Given the description of an element on the screen output the (x, y) to click on. 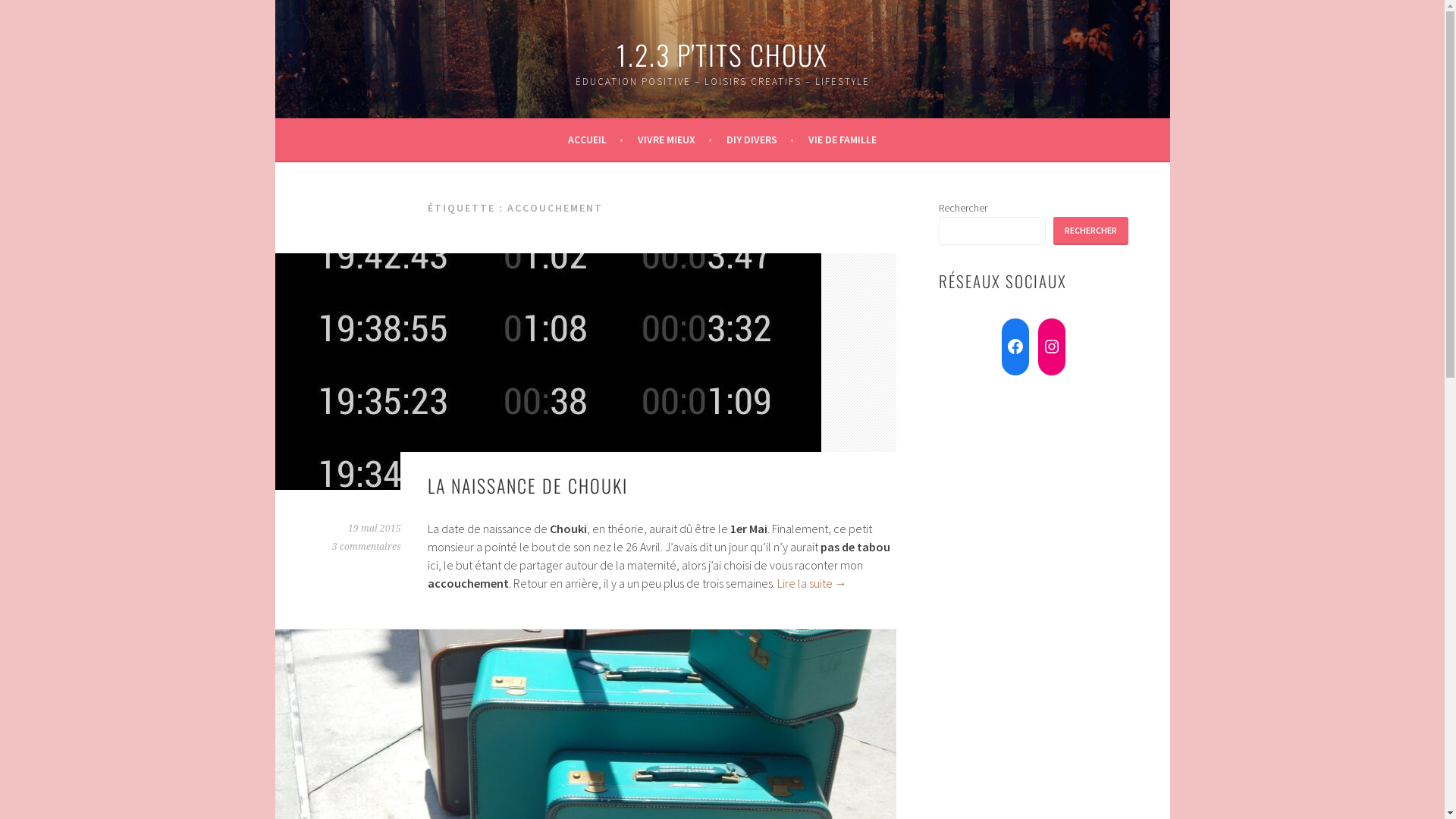
VIE DE FAMILLE Element type: text (842, 139)
Instagram Element type: text (1050, 346)
LA NAISSANCE DE CHOUKI Element type: text (527, 484)
DIY DIVERS Element type: text (759, 139)
Facebook Element type: text (1014, 346)
19 mai 2015 Element type: text (373, 528)
VIVRE MIEUX Element type: text (674, 139)
RECHERCHER Element type: text (1089, 230)
3 commentaires Element type: text (366, 546)
1.2.3 P'TITS CHOUX Element type: text (722, 54)
ACCUEIL Element type: text (595, 139)
